Given the description of an element on the screen output the (x, y) to click on. 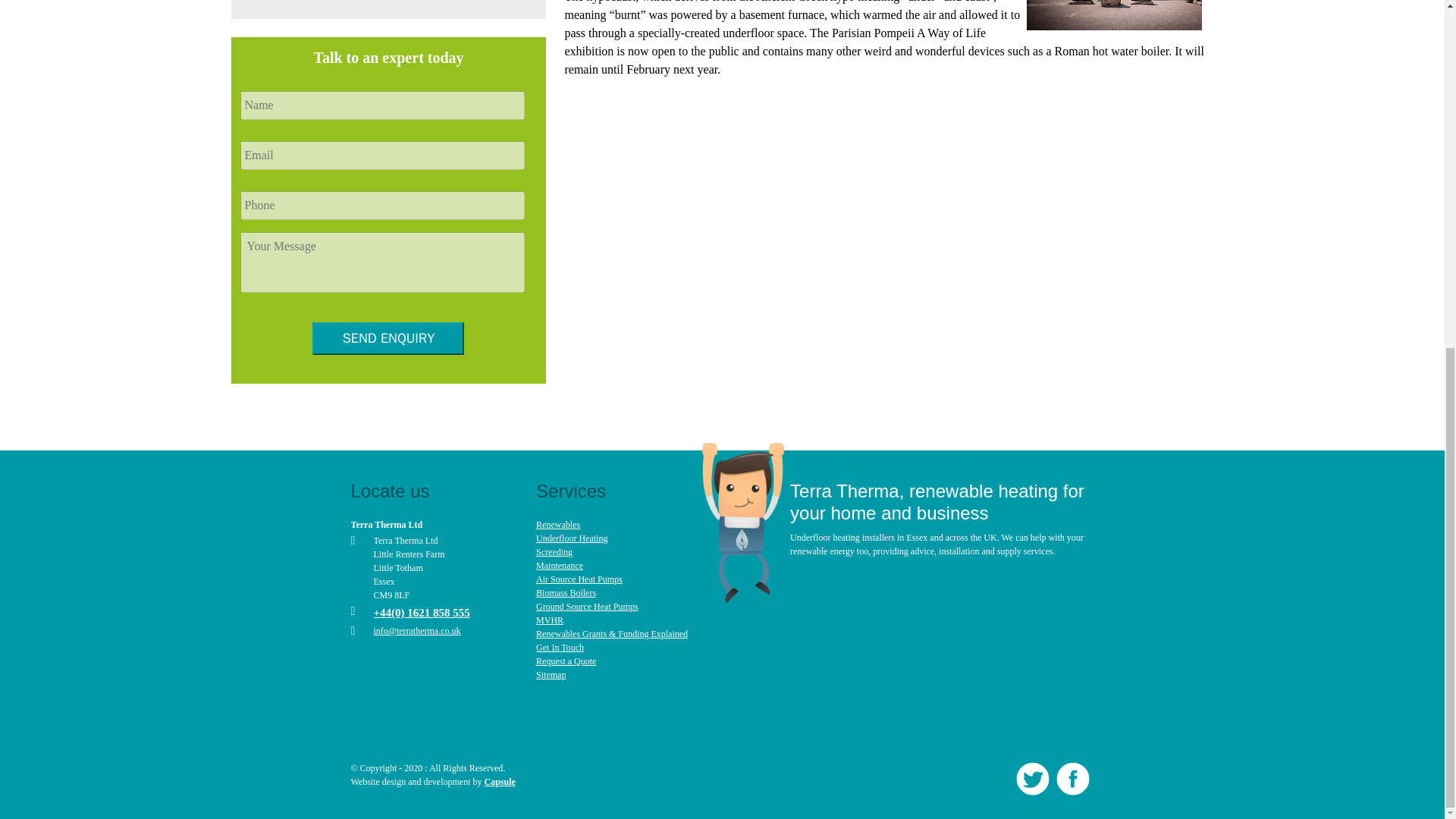
Send Enquiry (388, 338)
